Given the description of an element on the screen output the (x, y) to click on. 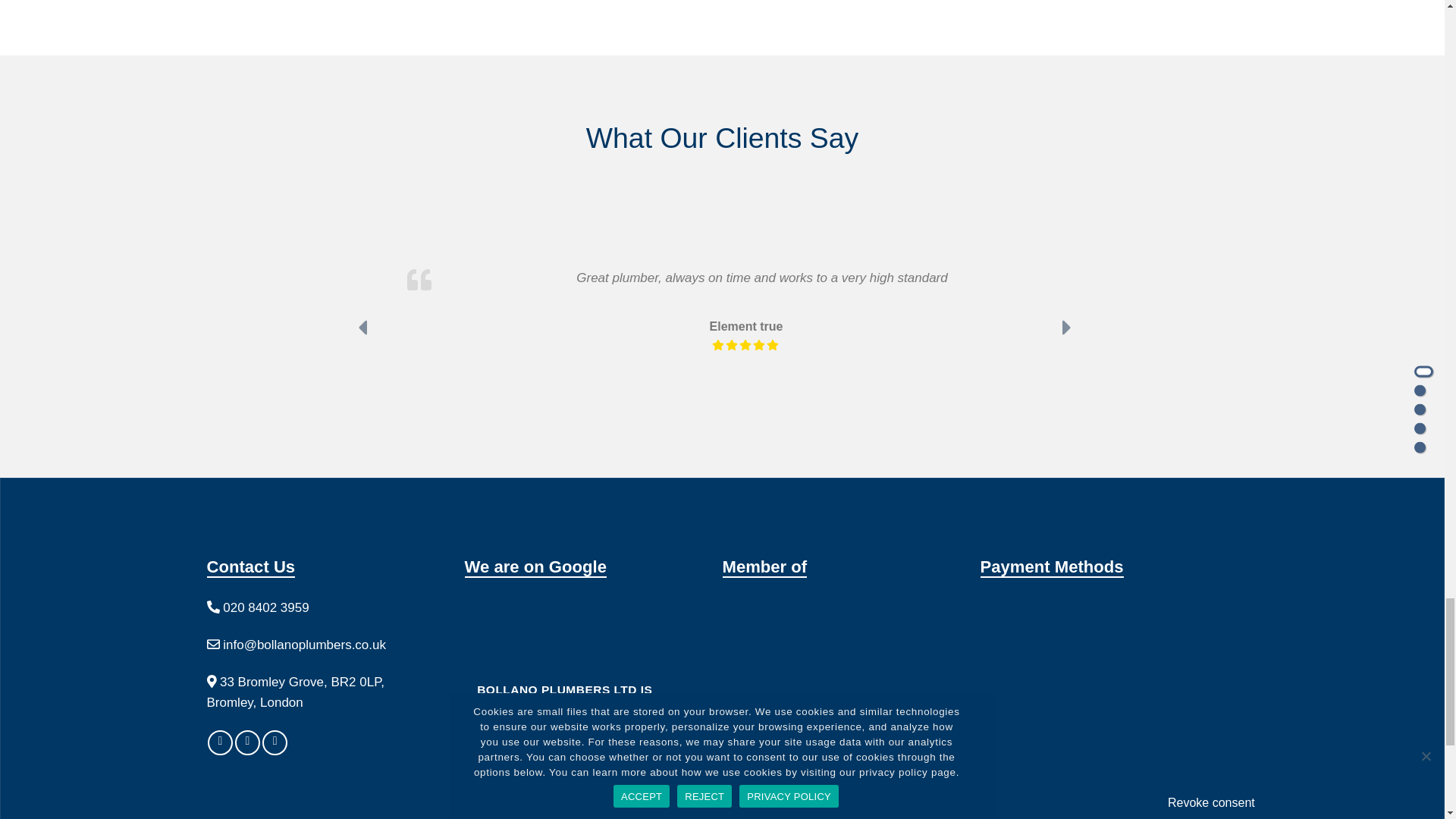
Follow on Facebook (220, 742)
